Given the description of an element on the screen output the (x, y) to click on. 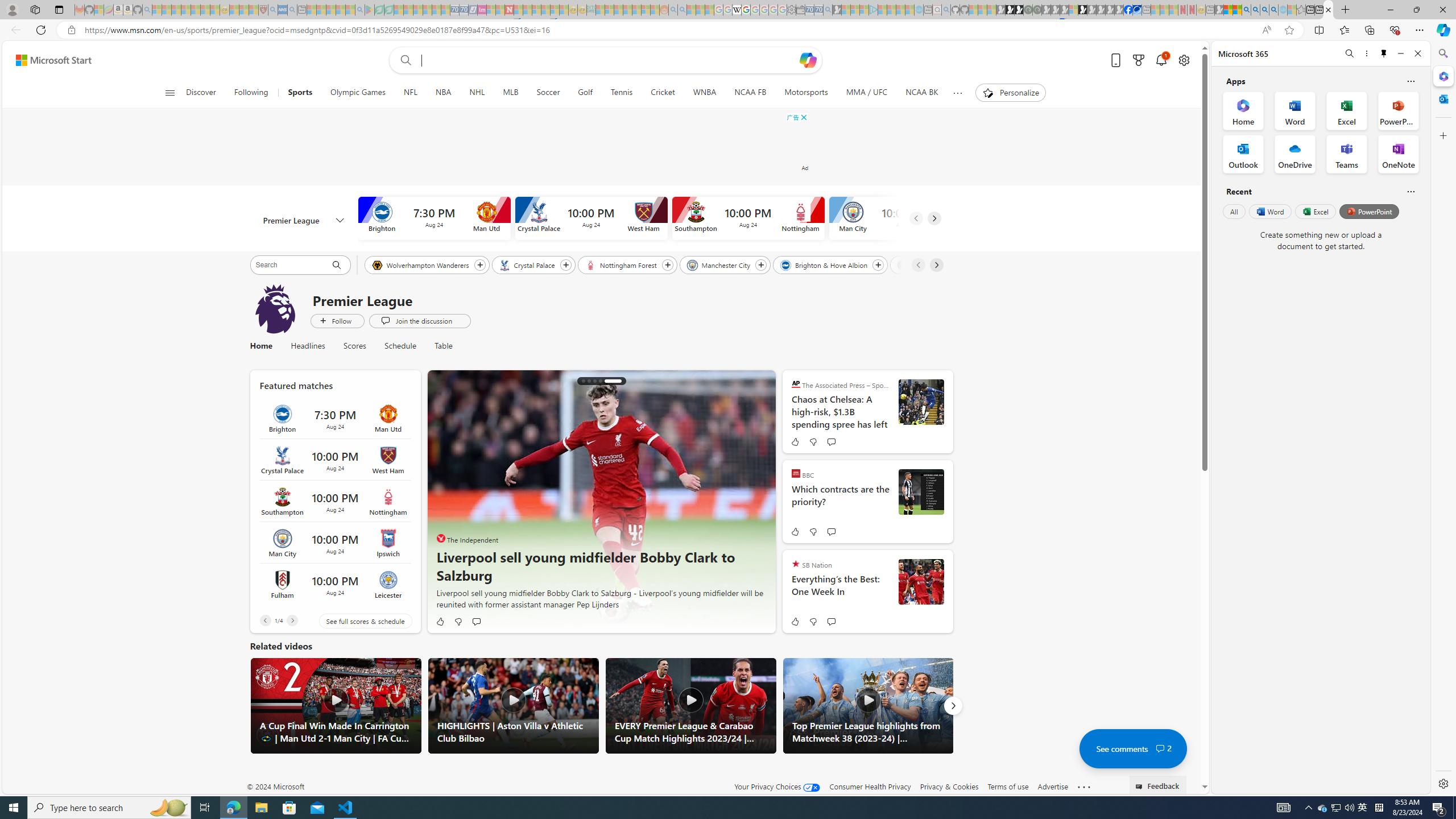
Schedule (400, 345)
Soccer (548, 92)
Sign in to your account - Sleeping (1073, 9)
